Given the description of an element on the screen output the (x, y) to click on. 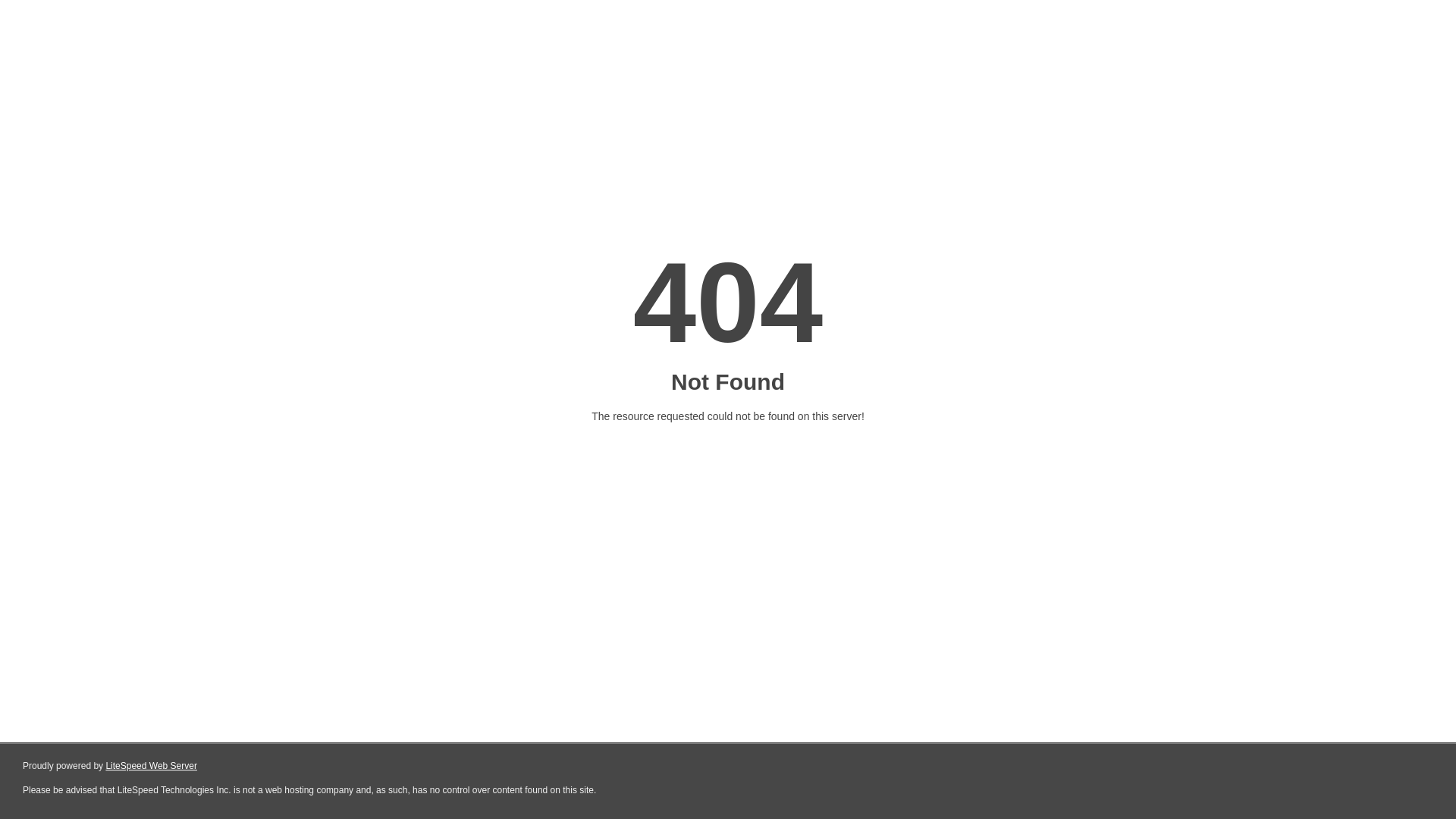
LiteSpeed Web Server Element type: text (151, 765)
